Given the description of an element on the screen output the (x, y) to click on. 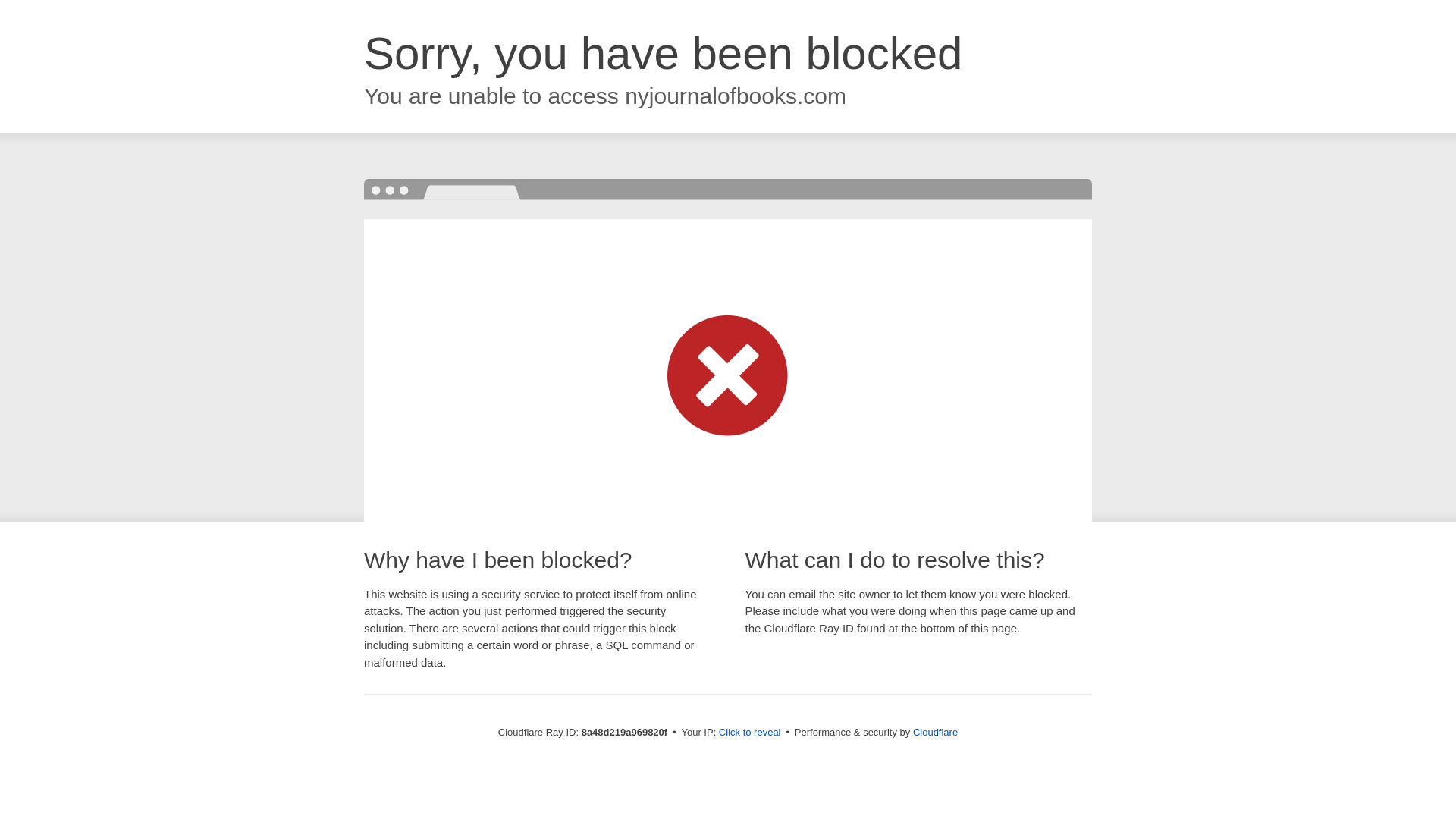
Cloudflare (935, 731)
Click to reveal (749, 732)
